Given the description of an element on the screen output the (x, y) to click on. 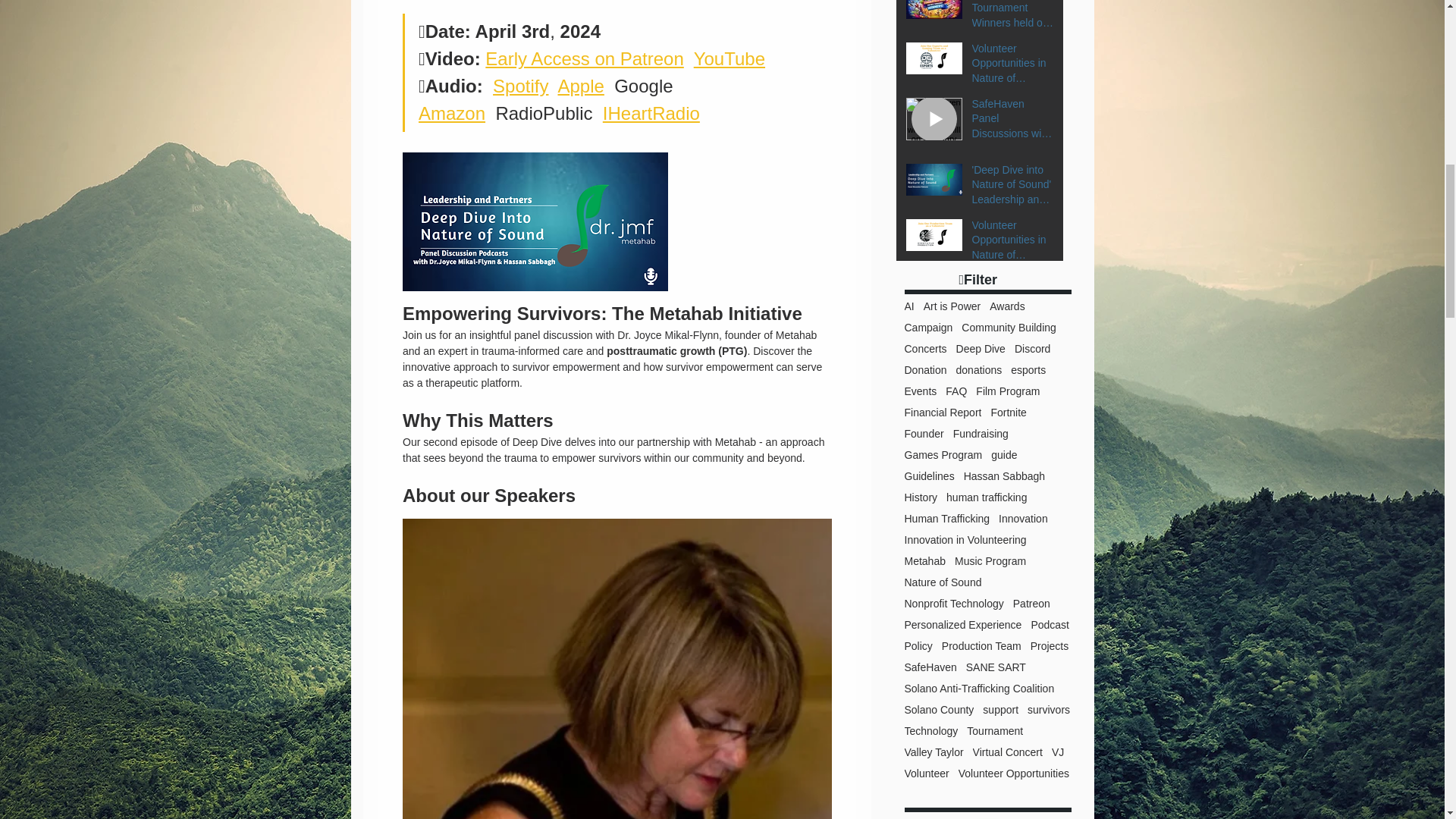
Art is Power (951, 306)
